Given the description of an element on the screen output the (x, y) to click on. 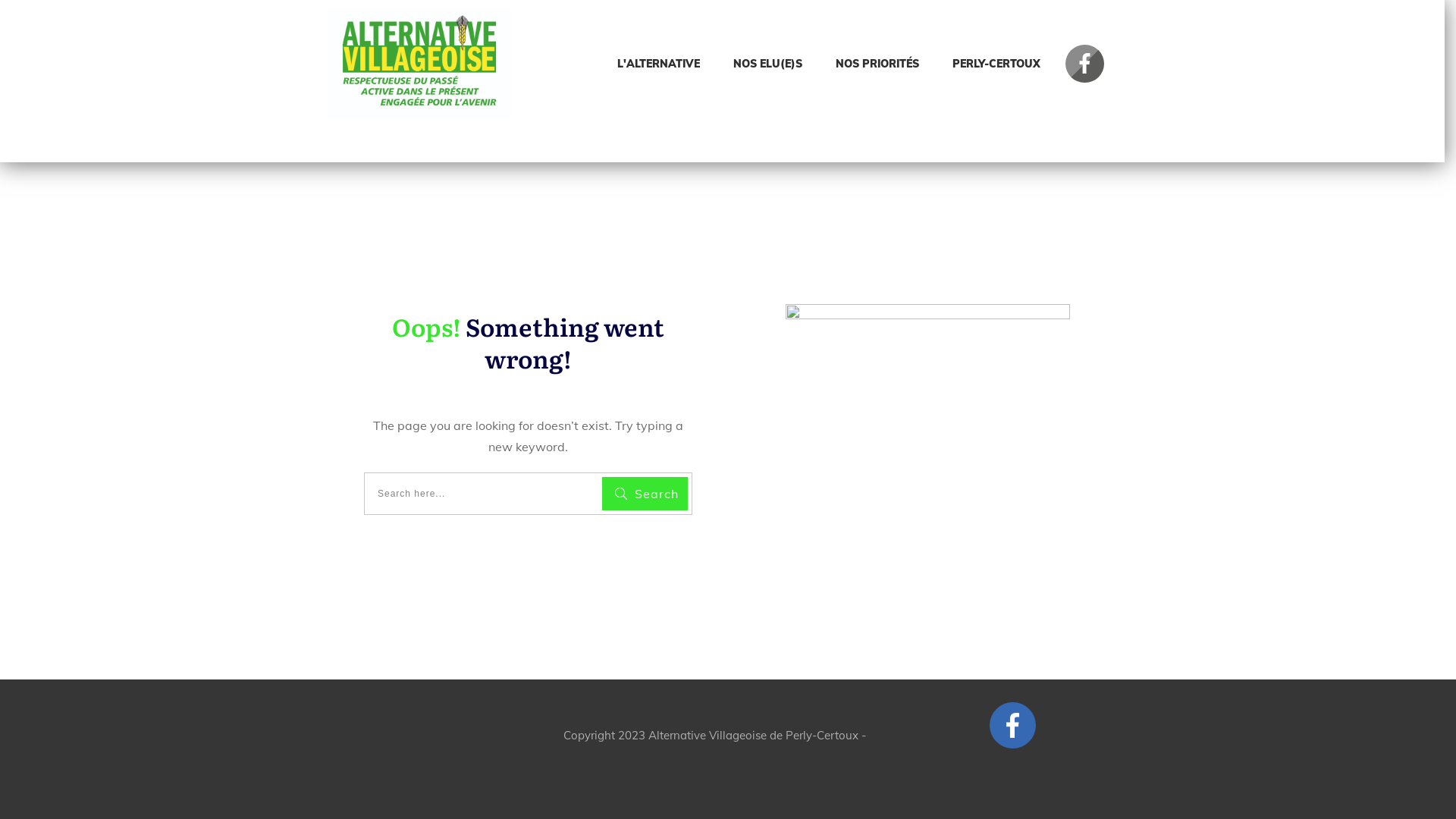
NOS ELU(E)S Element type: text (767, 63)
L'ALTERNATIVE Element type: text (658, 63)
PERLY-CERTOUX Element type: text (996, 63)
404 Element type: hover (927, 412)
Search Element type: text (644, 493)
